Given the description of an element on the screen output the (x, y) to click on. 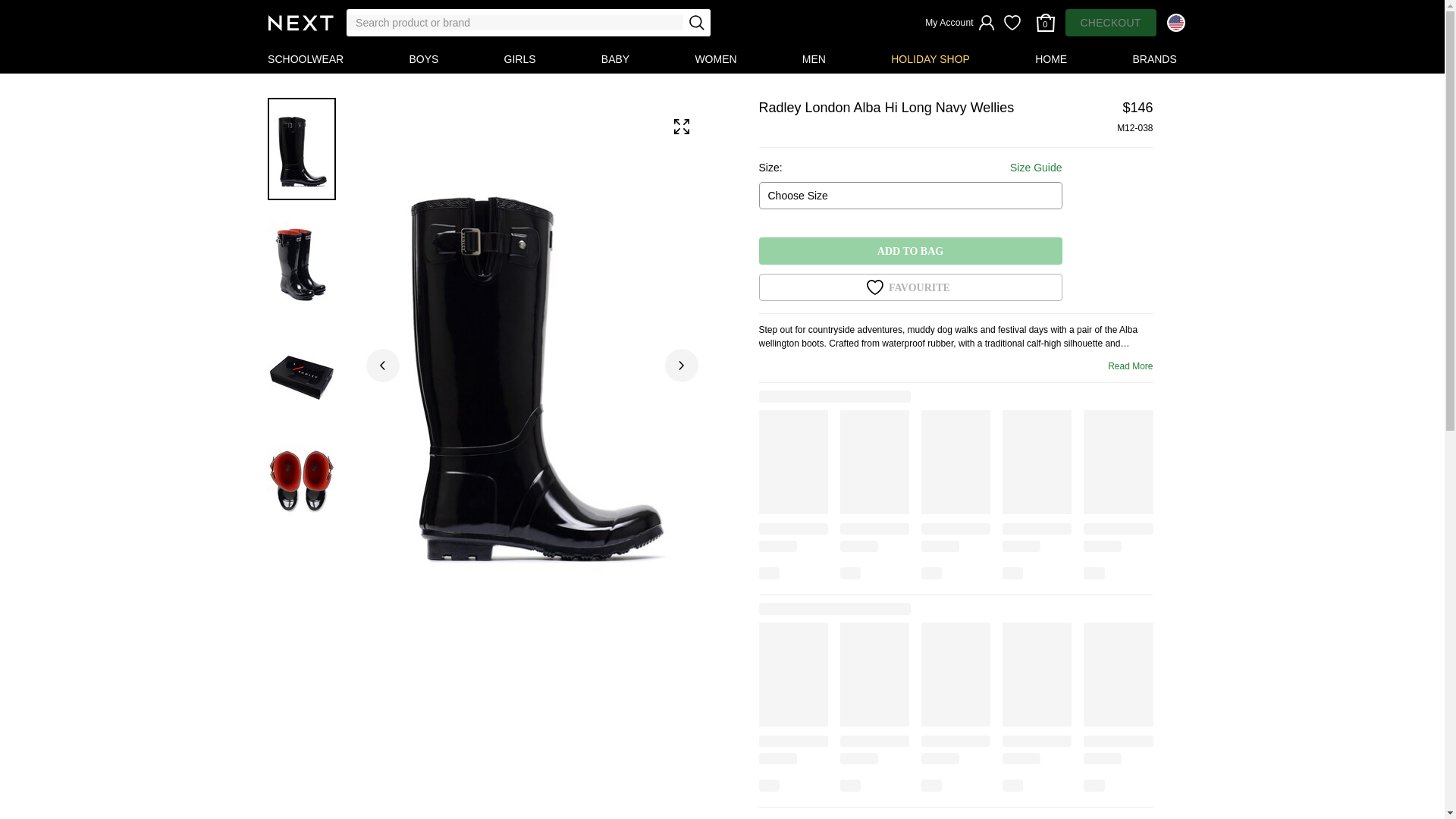
BRANDS (1155, 59)
GIRLS (519, 59)
MEN (813, 59)
FAVOURITE (909, 287)
SCHOOLWEAR (305, 59)
Next Icon (300, 22)
BOYS (423, 59)
Size Guide (1035, 167)
WOMEN (715, 59)
0 (1044, 22)
